Given the description of an element on the screen output the (x, y) to click on. 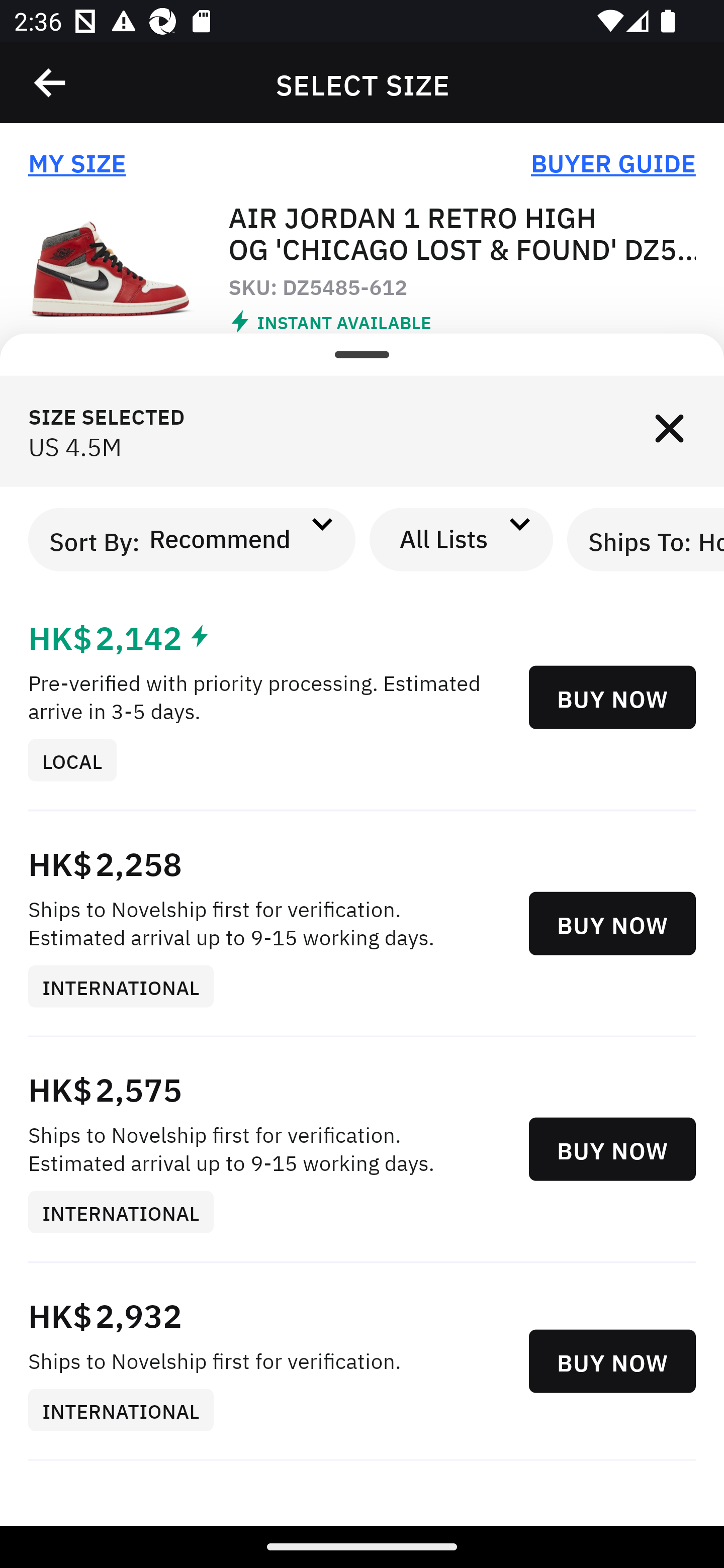
 (50, 83)
 (668, 430)
Recommend  (237, 539)
All Lists  (461, 539)
Ships To: Hong Kong (645, 539)
BUY NOW (612, 697)
LOCAL (79, 759)
BUY NOW (612, 923)
INTERNATIONAL (128, 986)
BUY NOW (612, 1148)
INTERNATIONAL (128, 1212)
BUY NOW (612, 1360)
INTERNATIONAL (128, 1410)
